Given the description of an element on the screen output the (x, y) to click on. 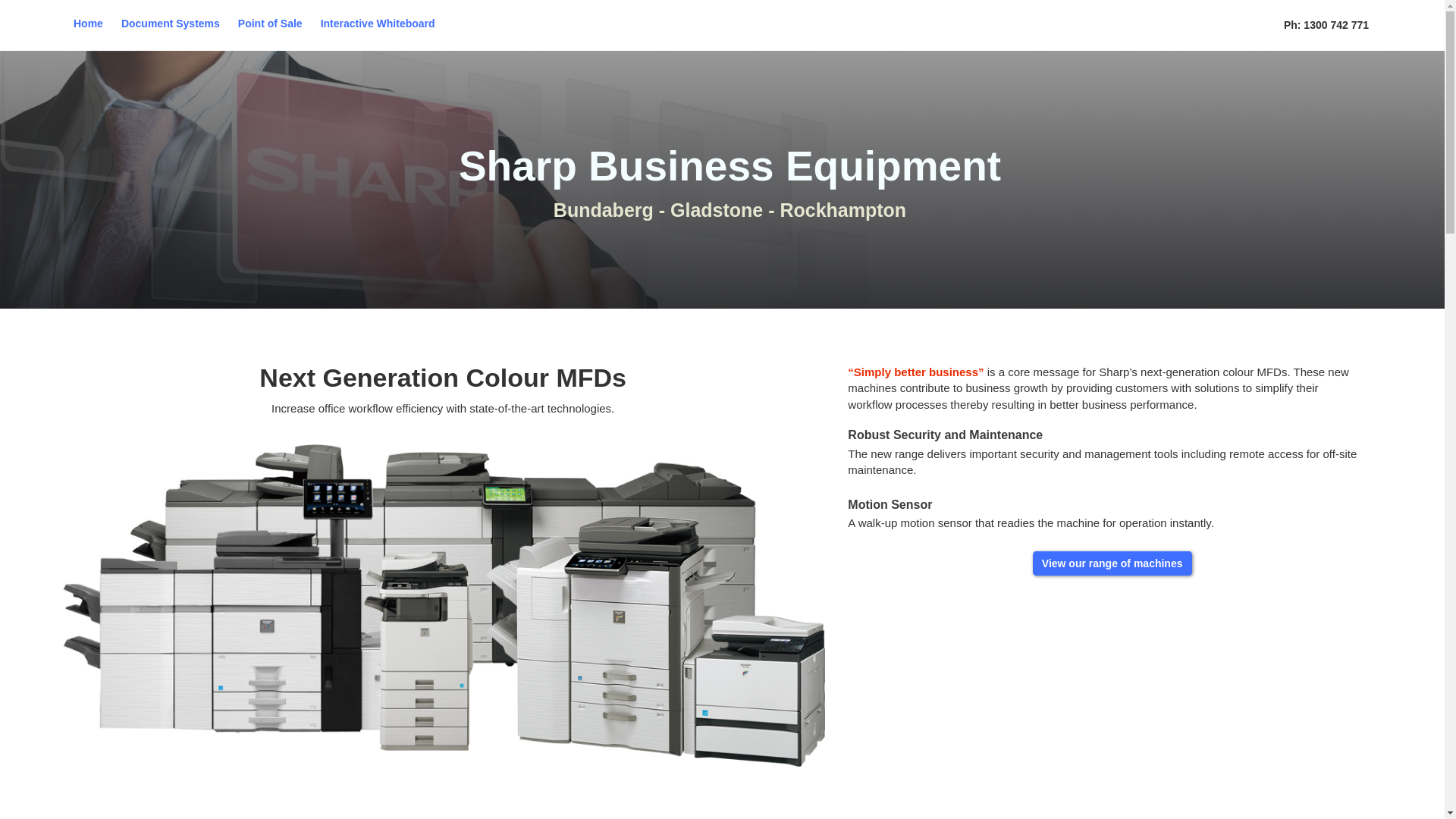
View our range of machines Element type: text (1112, 563)
Document Systems Element type: text (170, 23)
Home Element type: text (88, 23)
Interactive Whiteboard Element type: text (377, 23)
Point of Sale Element type: text (270, 23)
